Given the description of an element on the screen output the (x, y) to click on. 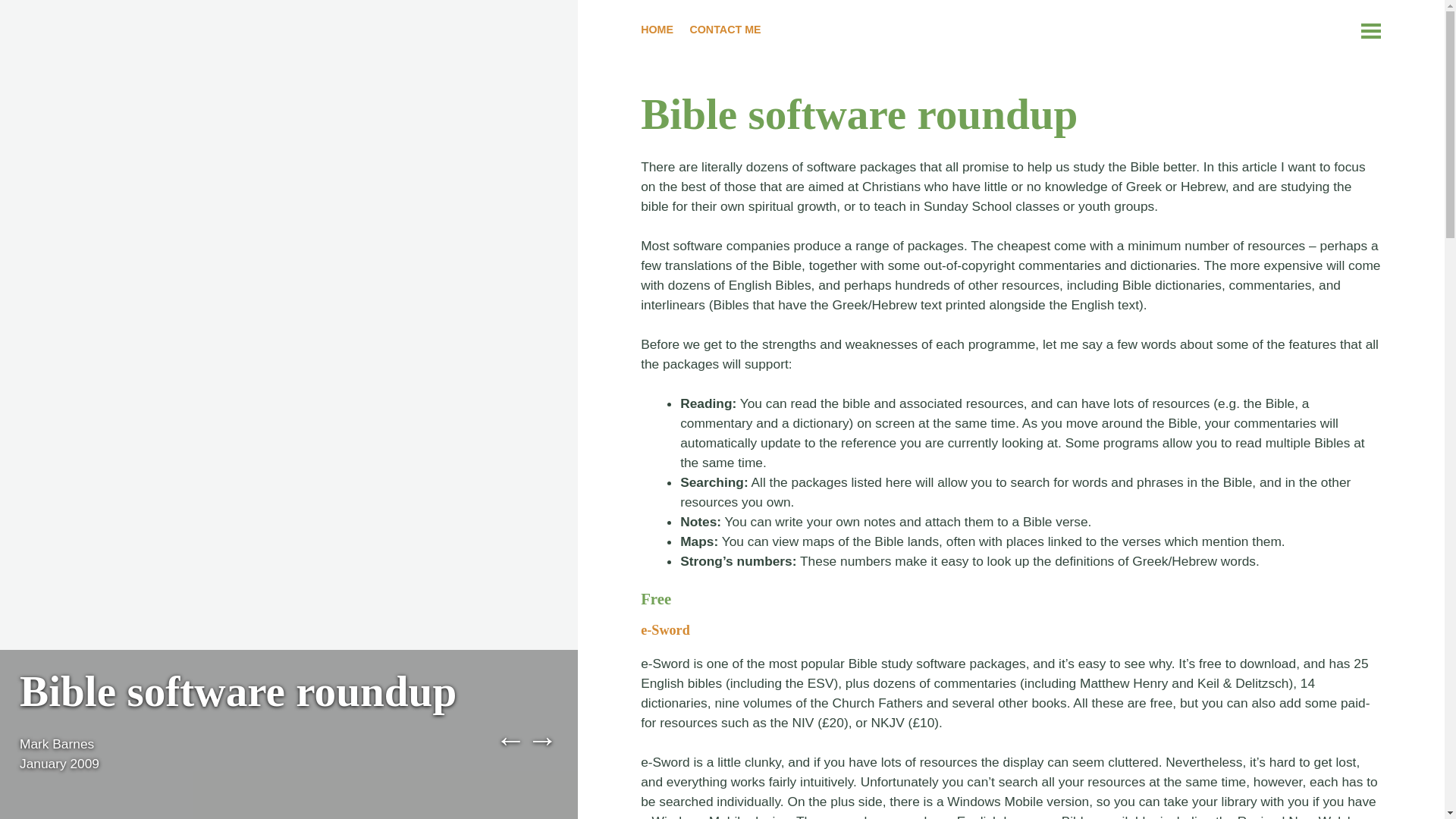
HOME (656, 31)
e-Sword (665, 630)
10:56 pm (59, 763)
View all posts by Mark Barnes (57, 743)
CONTACT ME (724, 31)
Mark Barnes (57, 743)
January 2009 (59, 763)
